Given the description of an element on the screen output the (x, y) to click on. 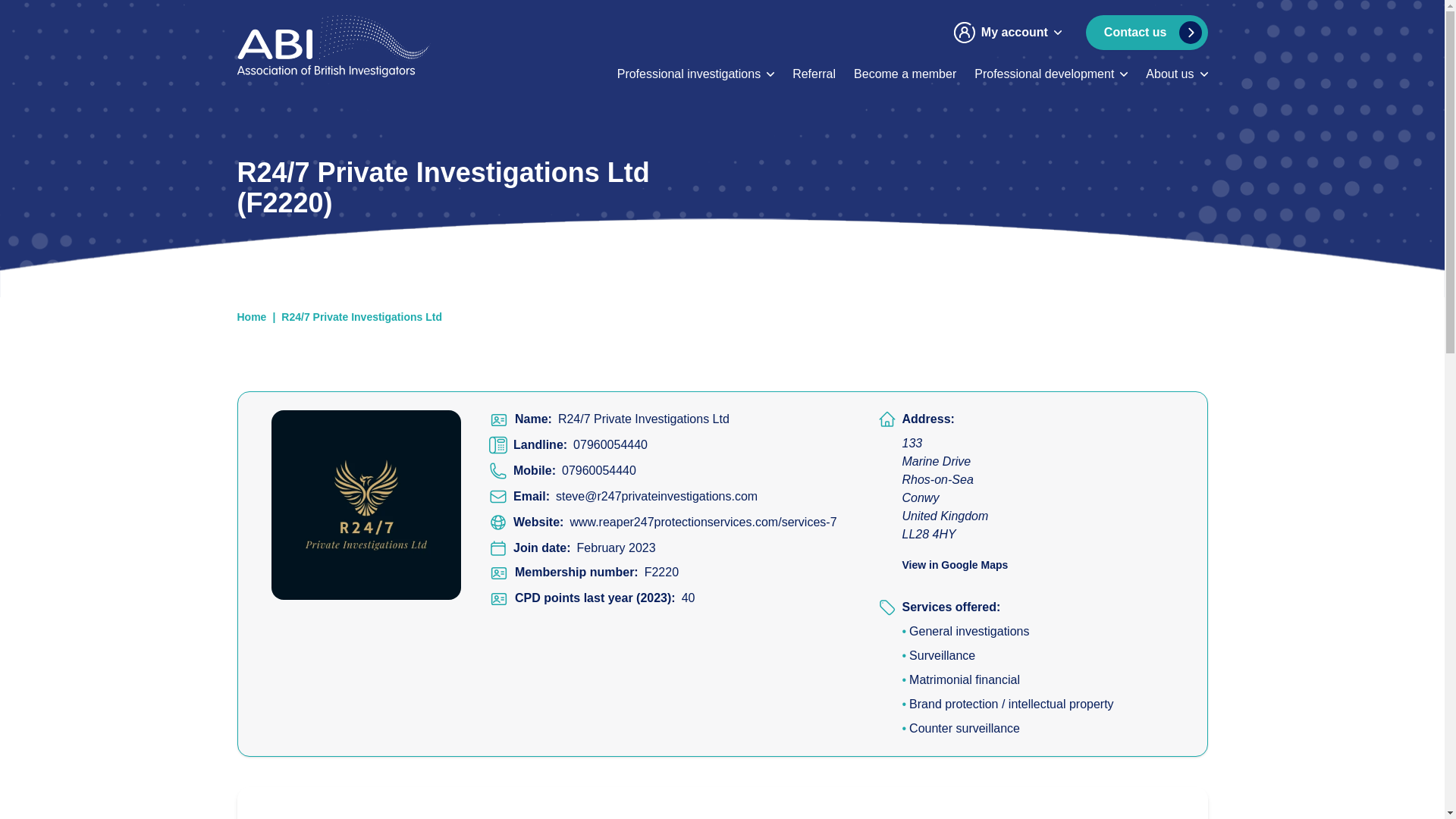
Become a member (904, 74)
Professional development (1043, 74)
Referral (813, 74)
Professional investigations (688, 74)
About us (1169, 74)
Contact us (1147, 32)
Home (357, 45)
